Given the description of an element on the screen output the (x, y) to click on. 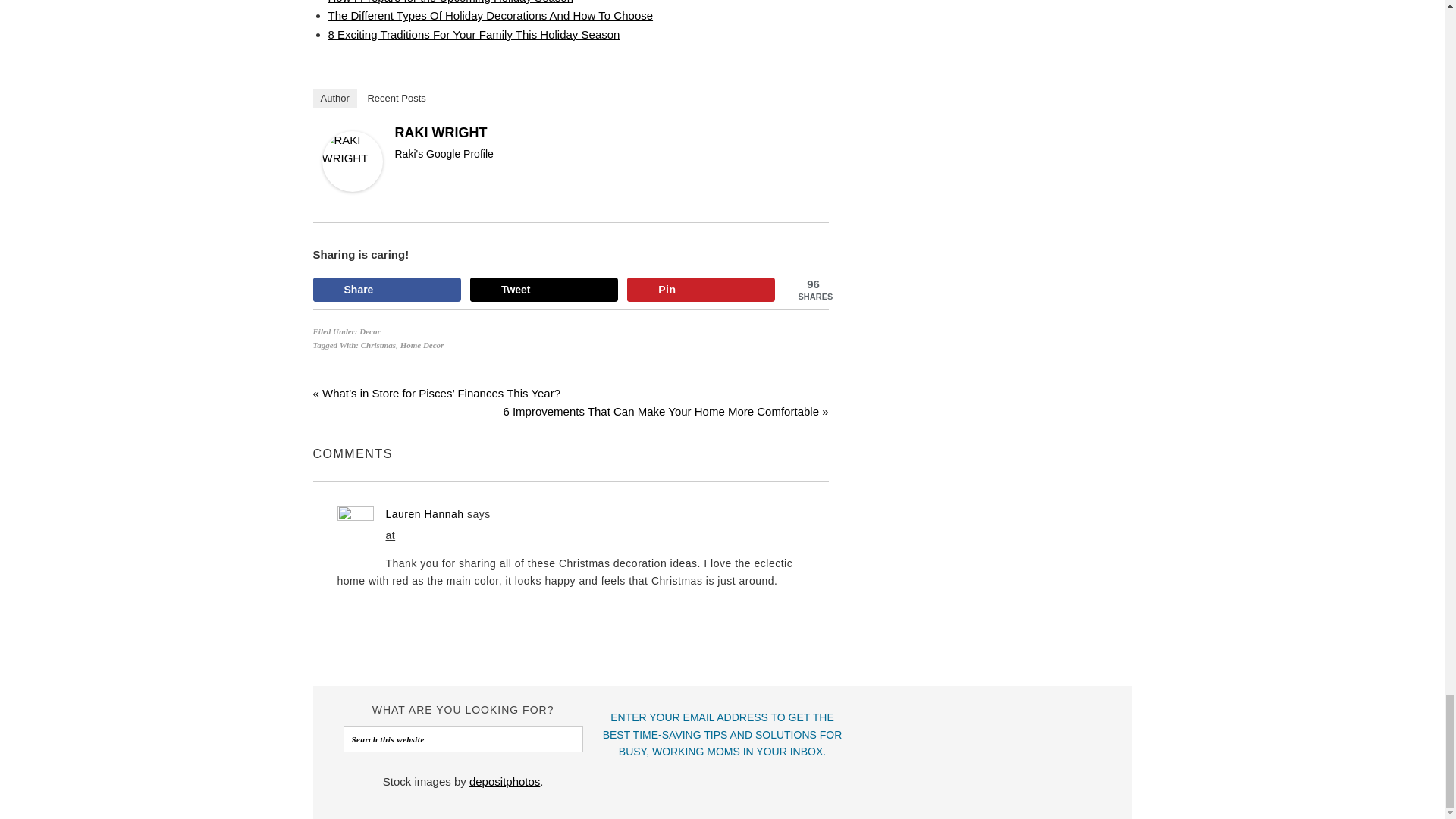
Share on X (543, 289)
Share on Facebook (386, 289)
Save to Pinterest (700, 289)
